Given the description of an element on the screen output the (x, y) to click on. 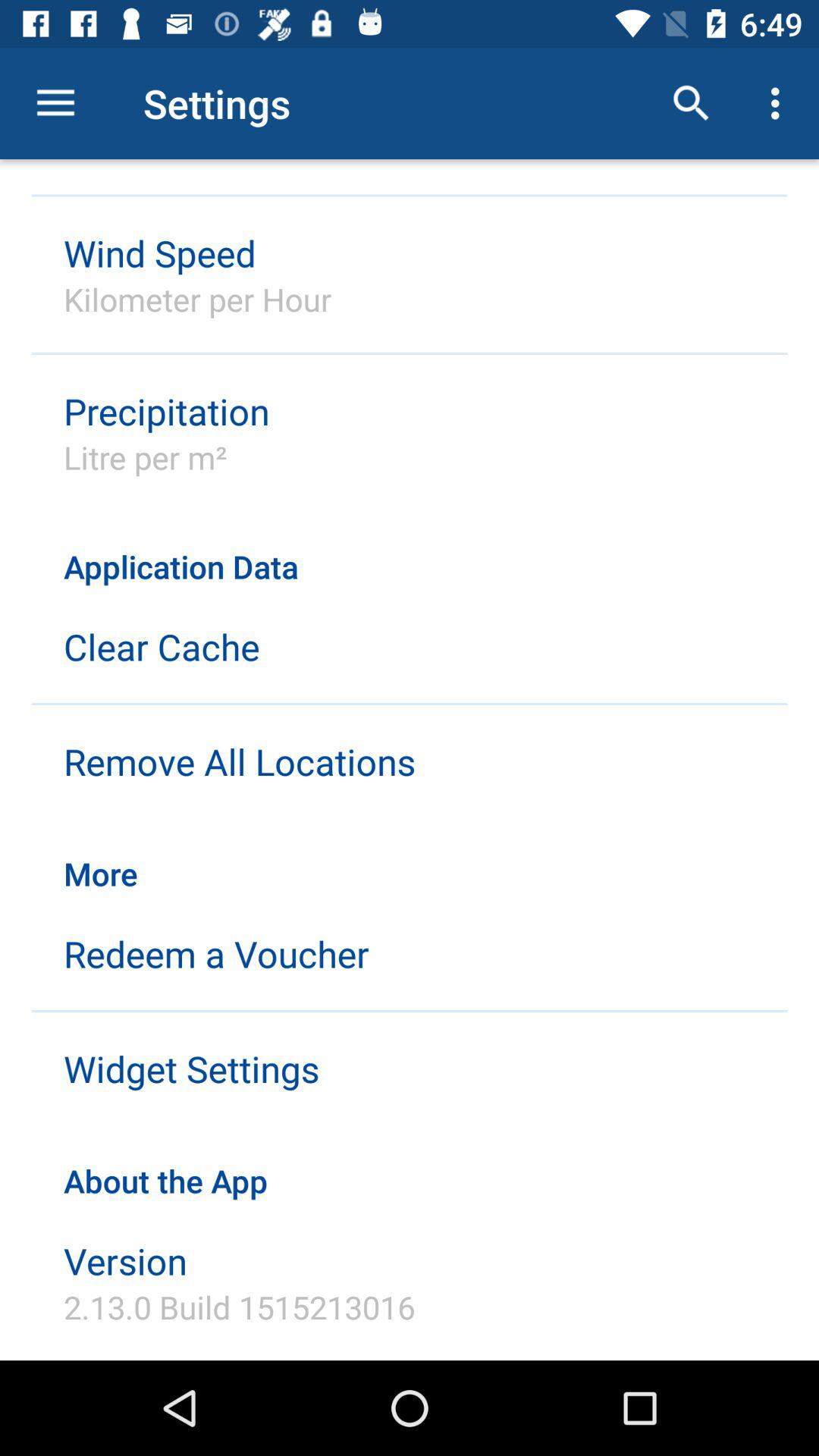
launch icon next to settings item (691, 103)
